Given the description of an element on the screen output the (x, y) to click on. 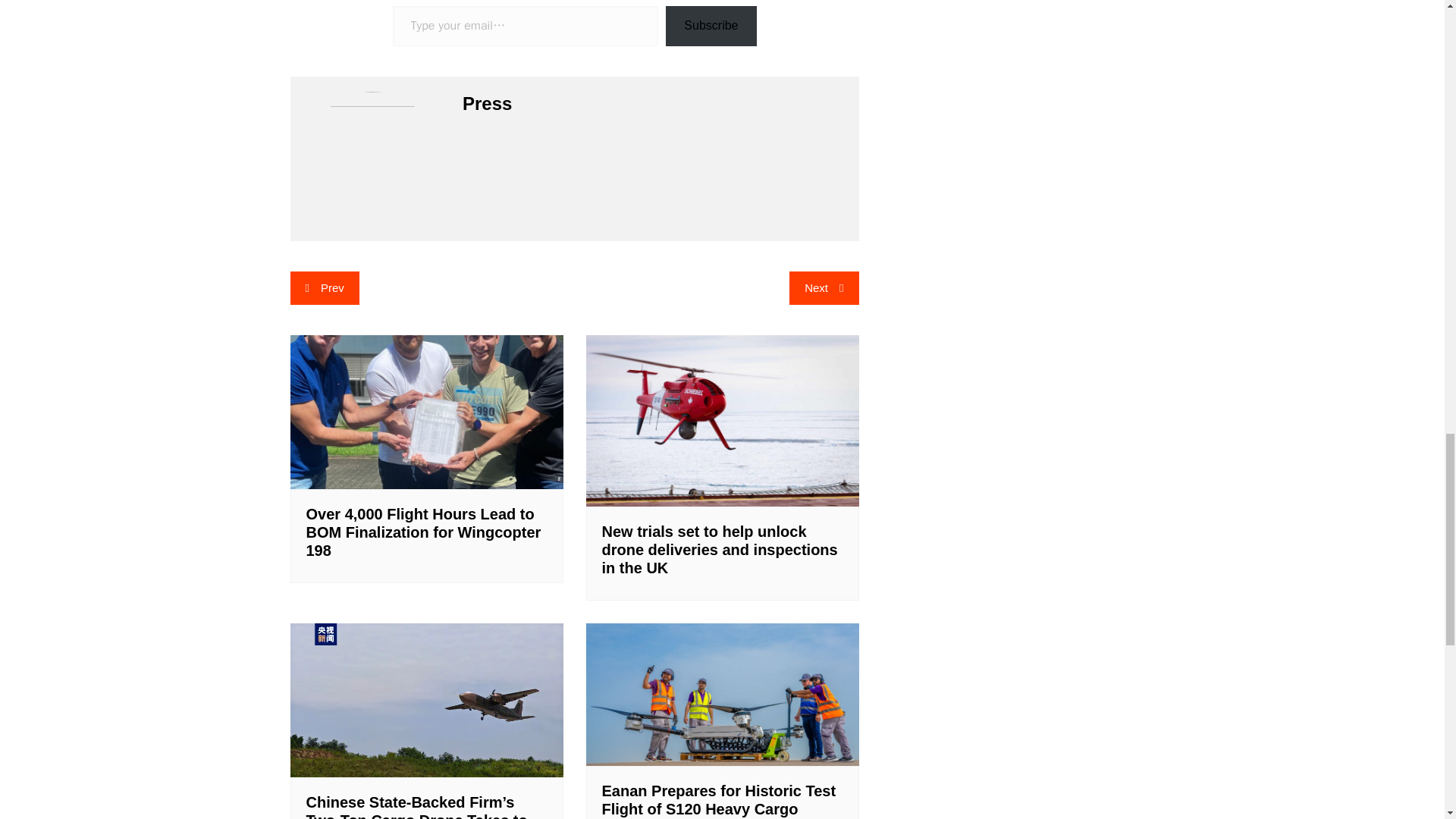
Subscribe (710, 25)
Prev (323, 287)
Please fill in this field. (526, 25)
Next (824, 287)
